Given the description of an element on the screen output the (x, y) to click on. 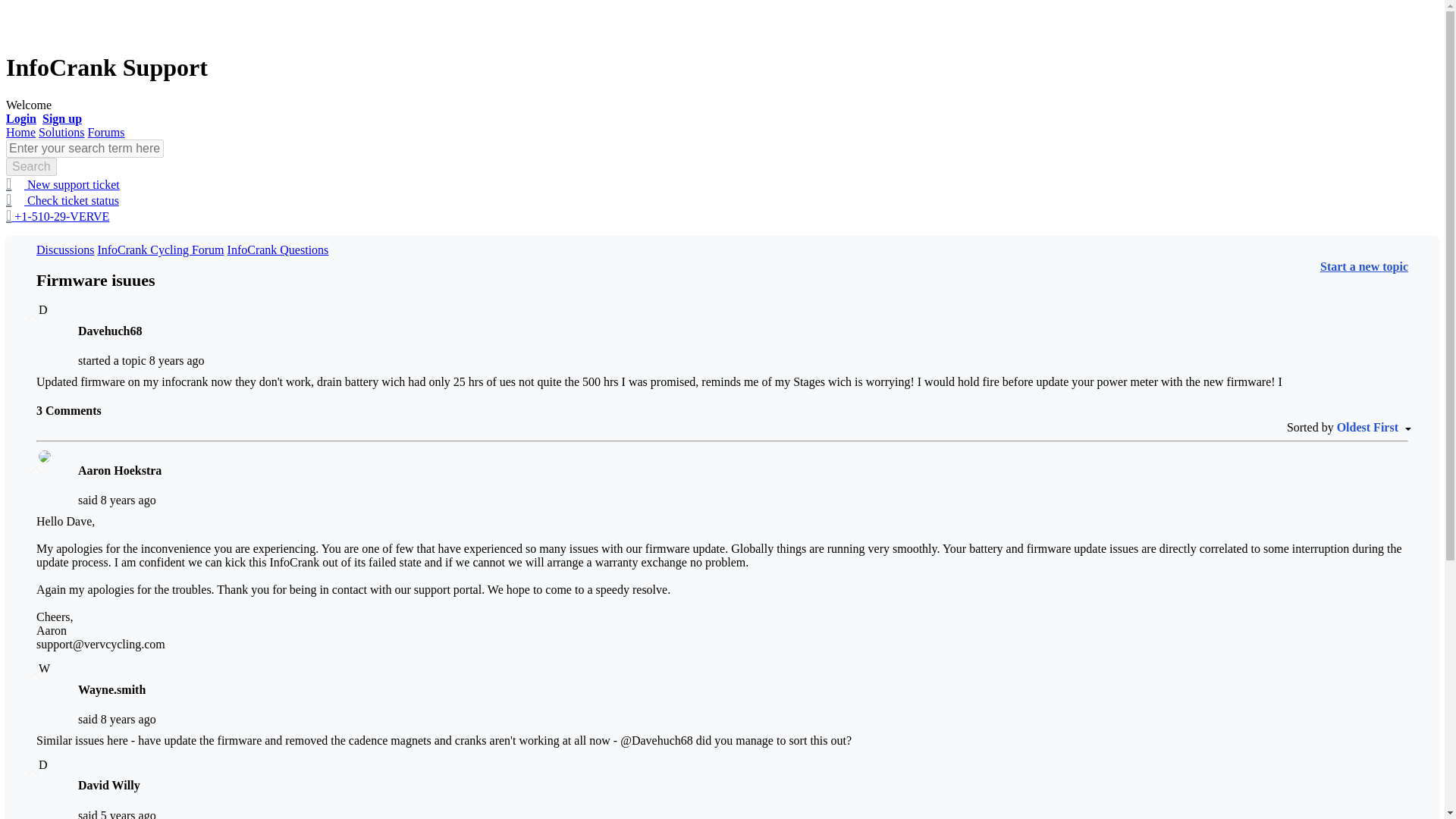
Sun, 29 May, 2016 at  7:52 AM (127, 718)
Wed, 29 May, 2019 at 10:58 AM (127, 813)
Check ticket status (62, 200)
Search (30, 167)
InfoCrank Cycling Forum (160, 249)
Thu, 7 Apr, 2016 at  6:14 PM (177, 359)
Forums (106, 132)
Discussions (65, 249)
New support ticket (62, 184)
Thu, 7 Apr, 2016 at  6:58 PM (127, 499)
Sign up (61, 118)
Home (19, 132)
Start a new topic (1363, 266)
New support ticket (62, 184)
InfoCrank Questions (278, 249)
